Given the description of an element on the screen output the (x, y) to click on. 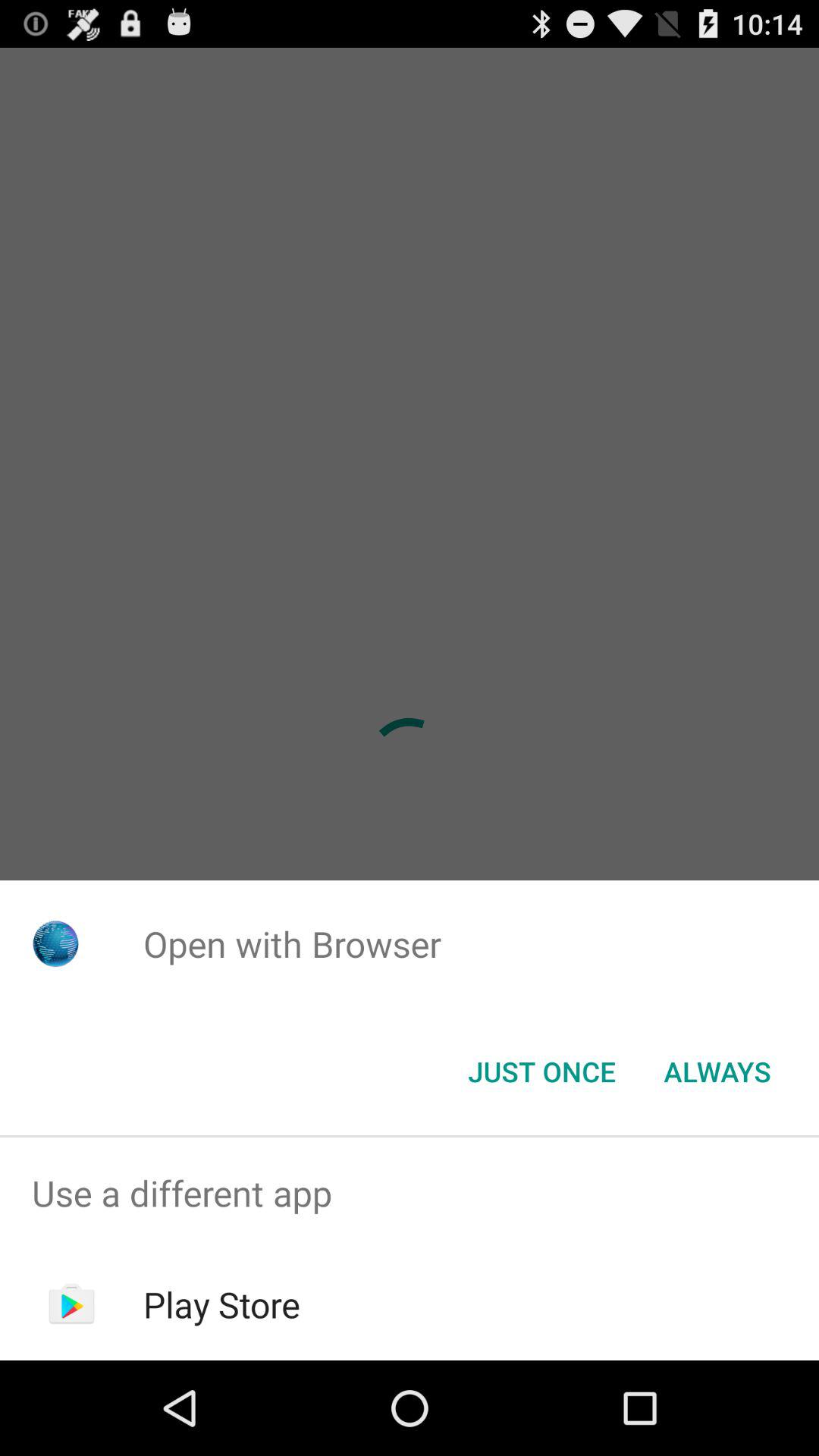
jump to use a different app (409, 1192)
